Given the description of an element on the screen output the (x, y) to click on. 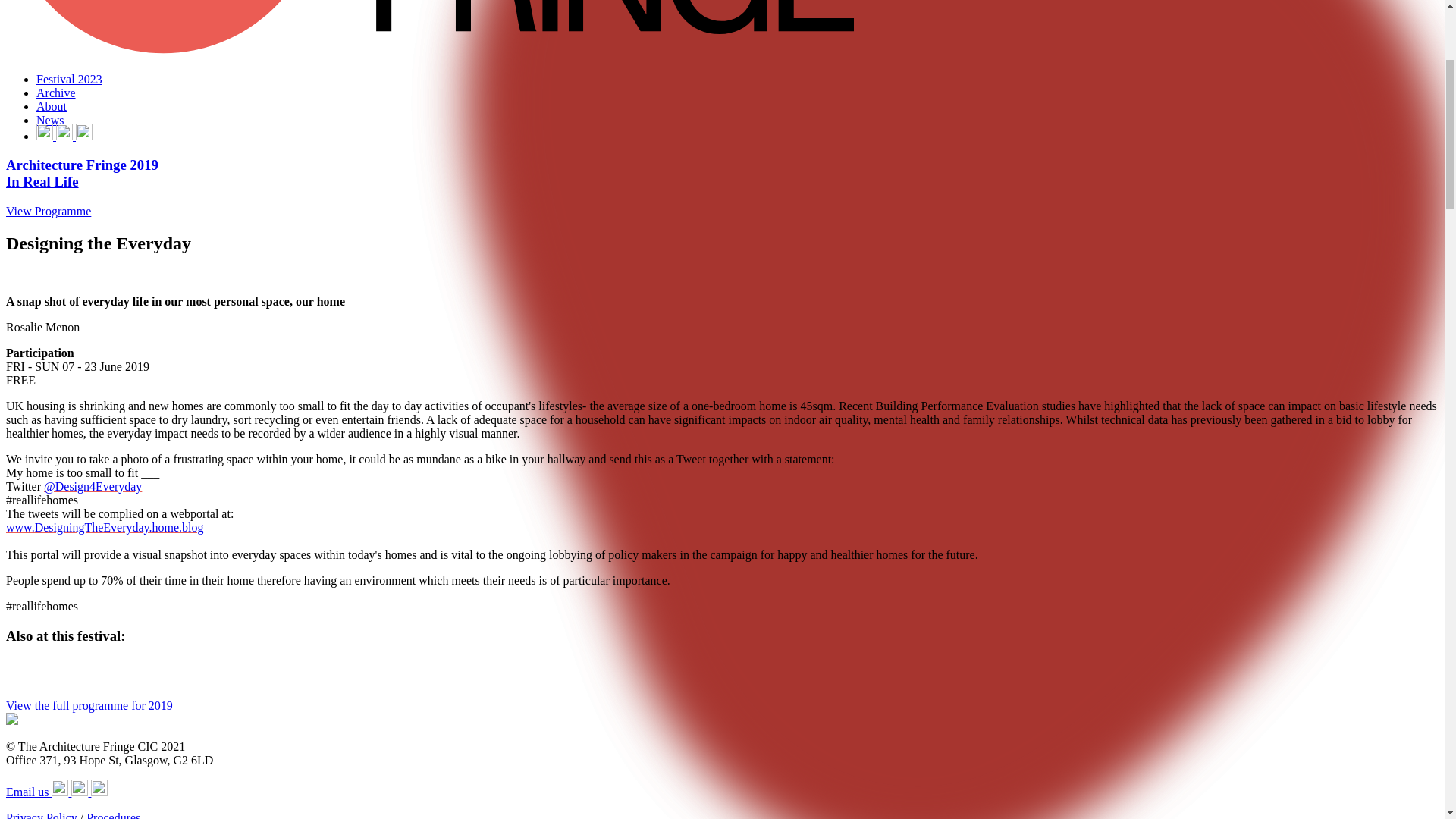
Archive (55, 92)
About (51, 106)
View Programme (47, 210)
www.DesigningTheEveryday.home.blog (104, 526)
View the full programme for 2019 (89, 705)
Festival 2023 (68, 78)
News (50, 119)
Email us (27, 791)
